Given the description of an element on the screen output the (x, y) to click on. 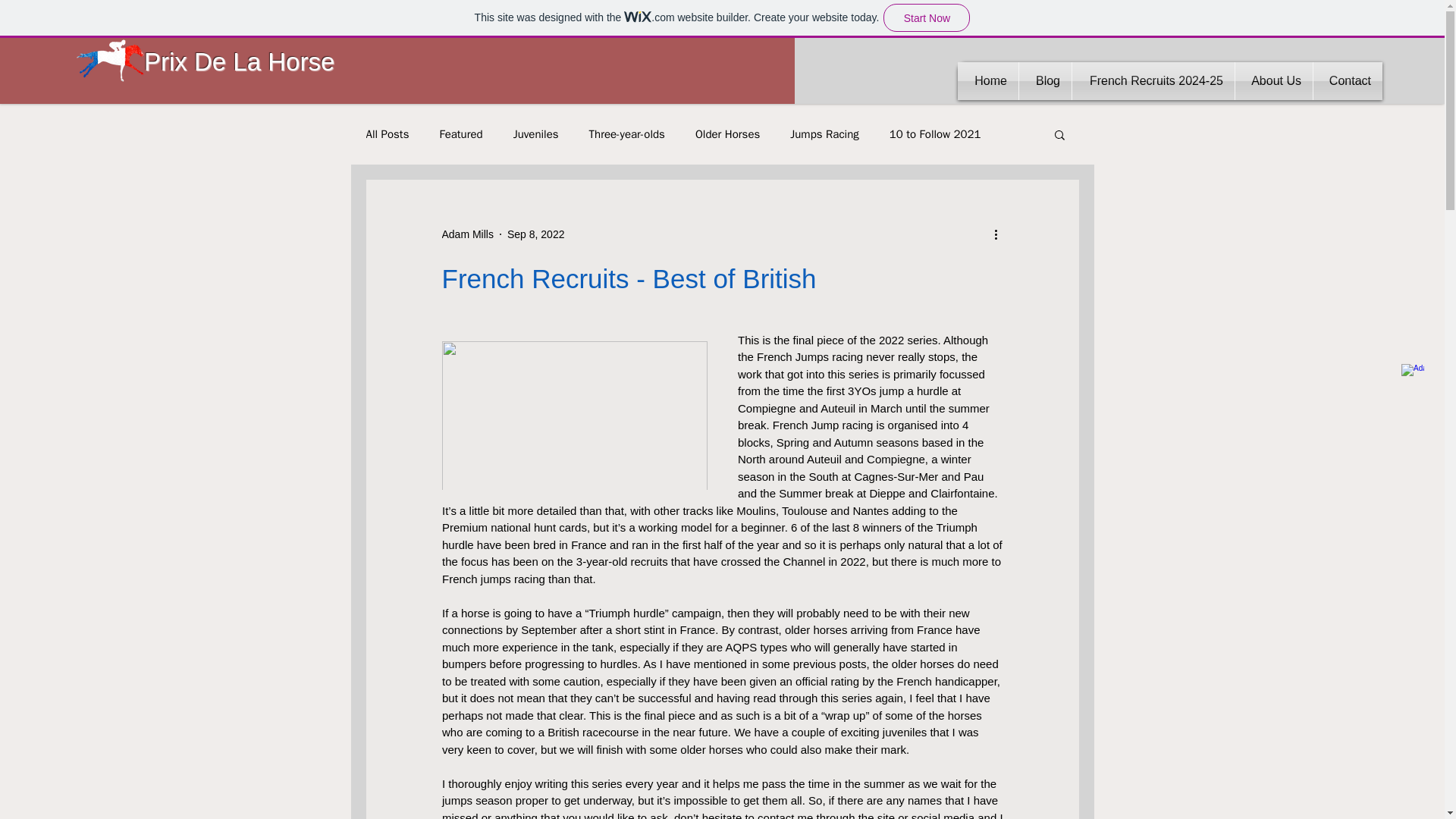
Adam Mills (467, 233)
About Us (1273, 80)
Blog (1045, 80)
Contact (1347, 80)
Juveniles (536, 134)
Featured (460, 134)
Adam Mills (467, 233)
All Posts (387, 134)
Sep 8, 2022 (535, 233)
Three-year-olds (627, 134)
10 to Follow 2021 (935, 134)
Prix De La Horse (239, 61)
Jumps Racing (824, 134)
French Recruits 2024-25 (1152, 80)
Home (987, 80)
